Given the description of an element on the screen output the (x, y) to click on. 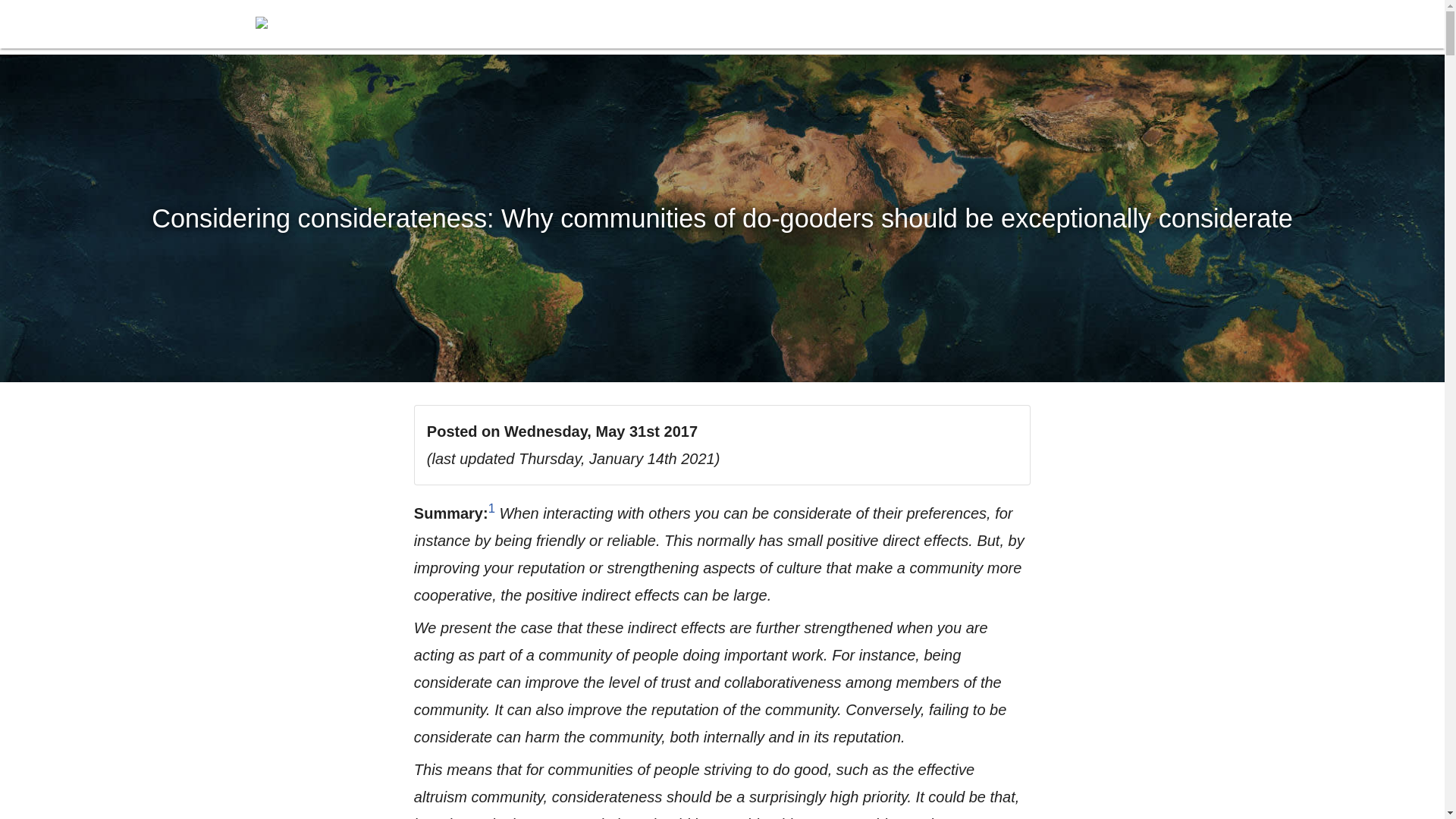
Home (266, 27)
